Given the description of an element on the screen output the (x, y) to click on. 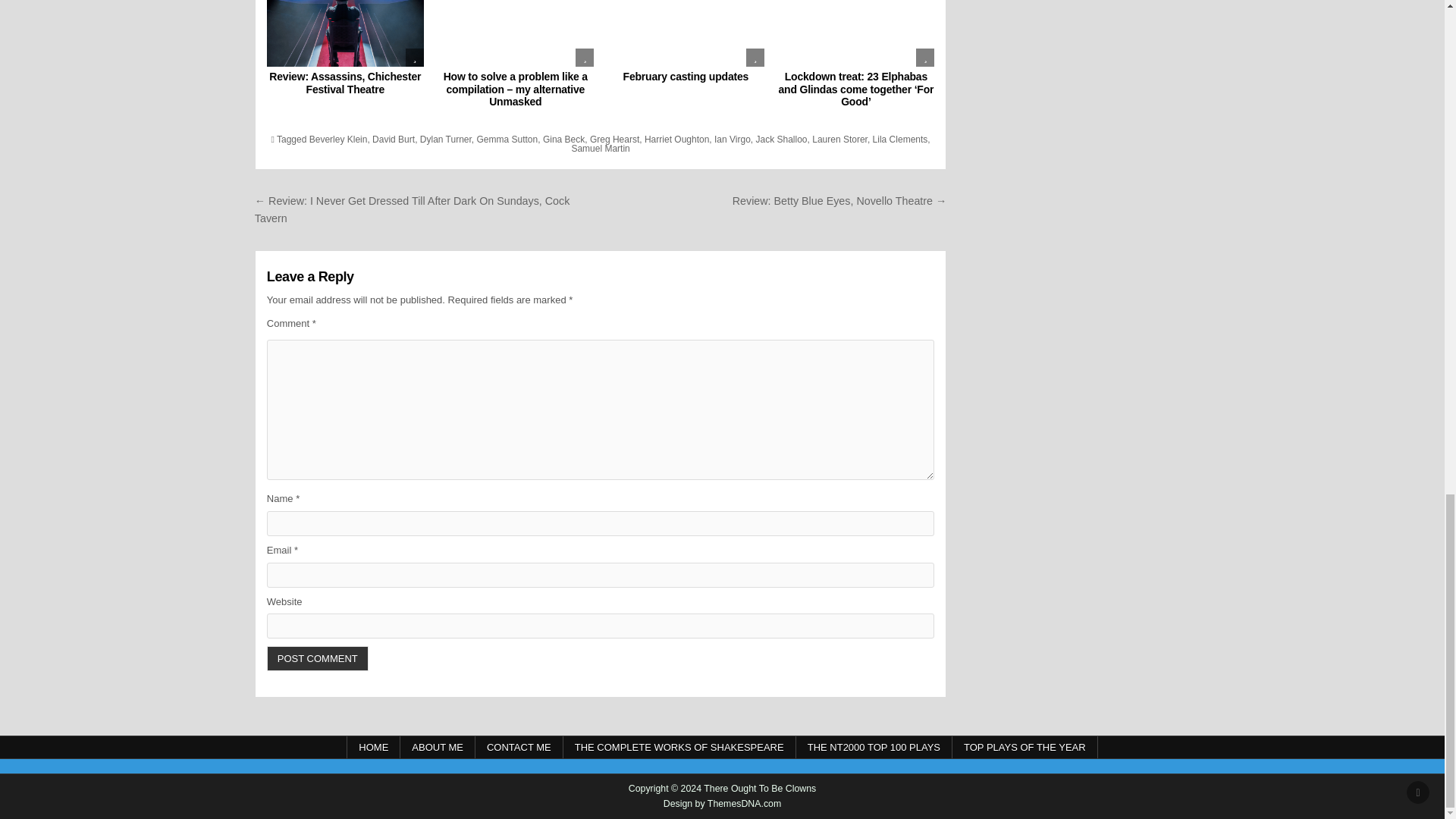
Post Comment (317, 658)
